Given the description of an element on the screen output the (x, y) to click on. 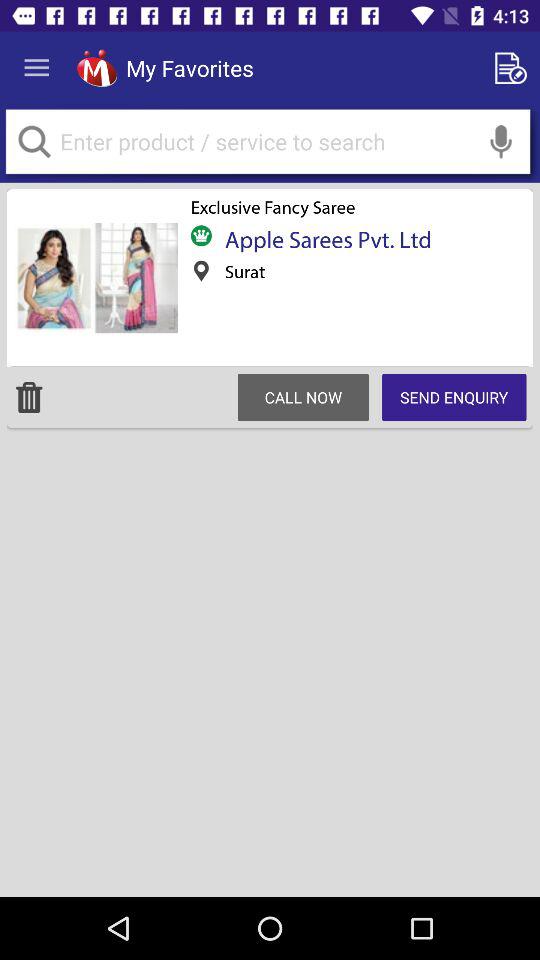
view images (95, 278)
